Given the description of an element on the screen output the (x, y) to click on. 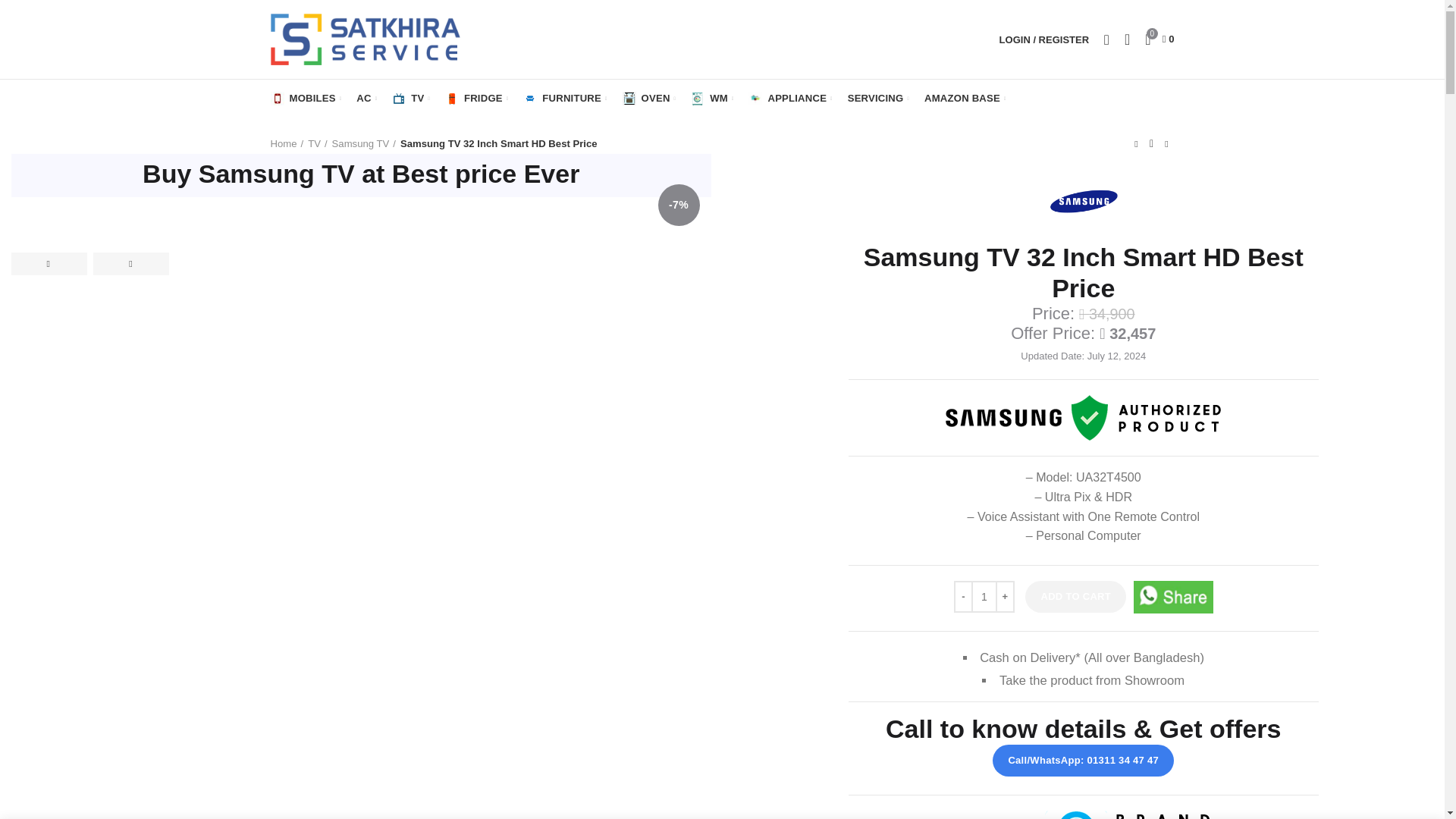
My account (1043, 39)
TV (411, 98)
Log in (963, 276)
MOBILES (305, 98)
Home Appliance (790, 98)
AC (366, 98)
Shopping cart (1158, 39)
